Given the description of an element on the screen output the (x, y) to click on. 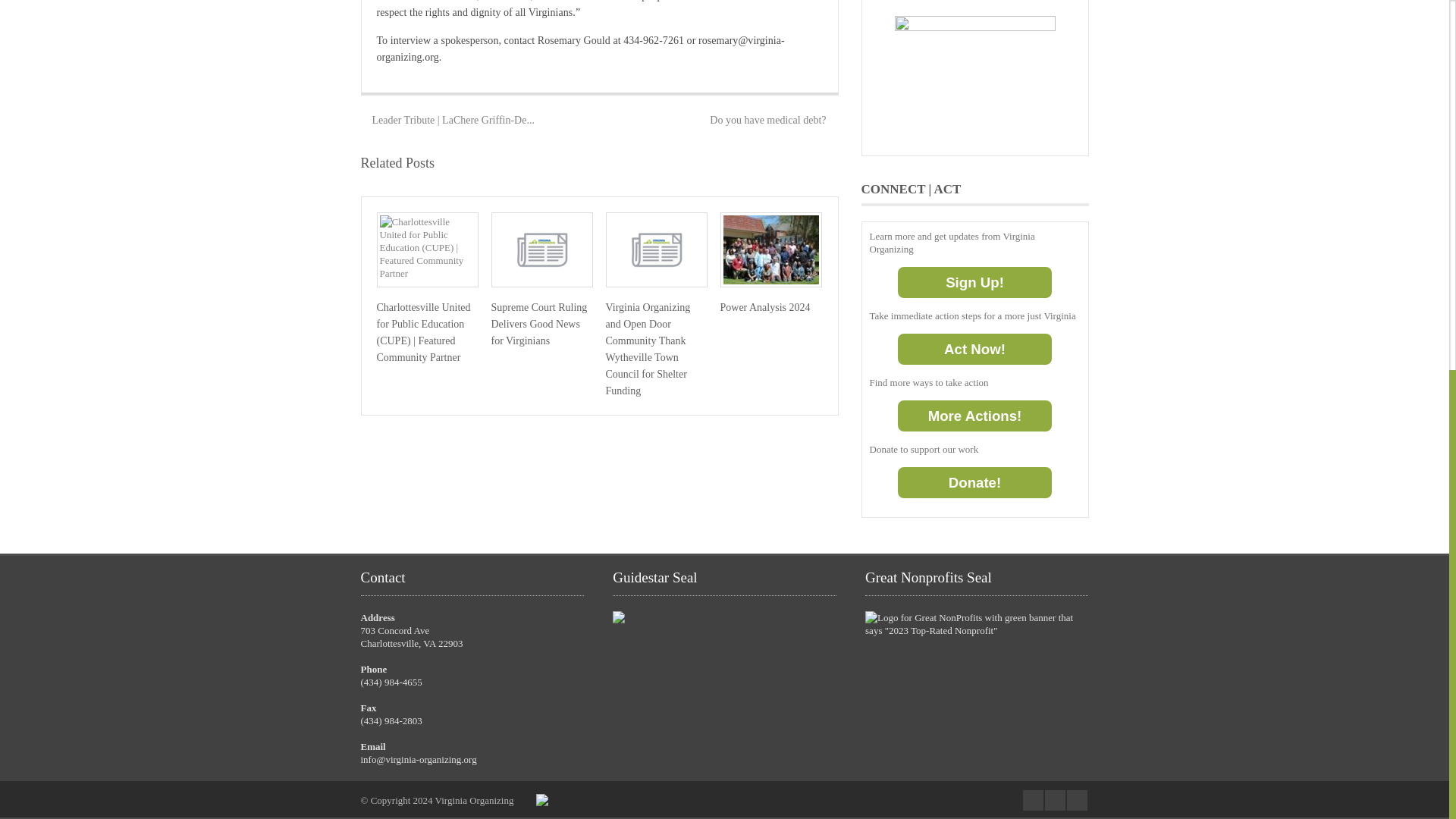
Website by Birch Studio (541, 802)
Scroll To Top (1415, 108)
